Given the description of an element on the screen output the (x, y) to click on. 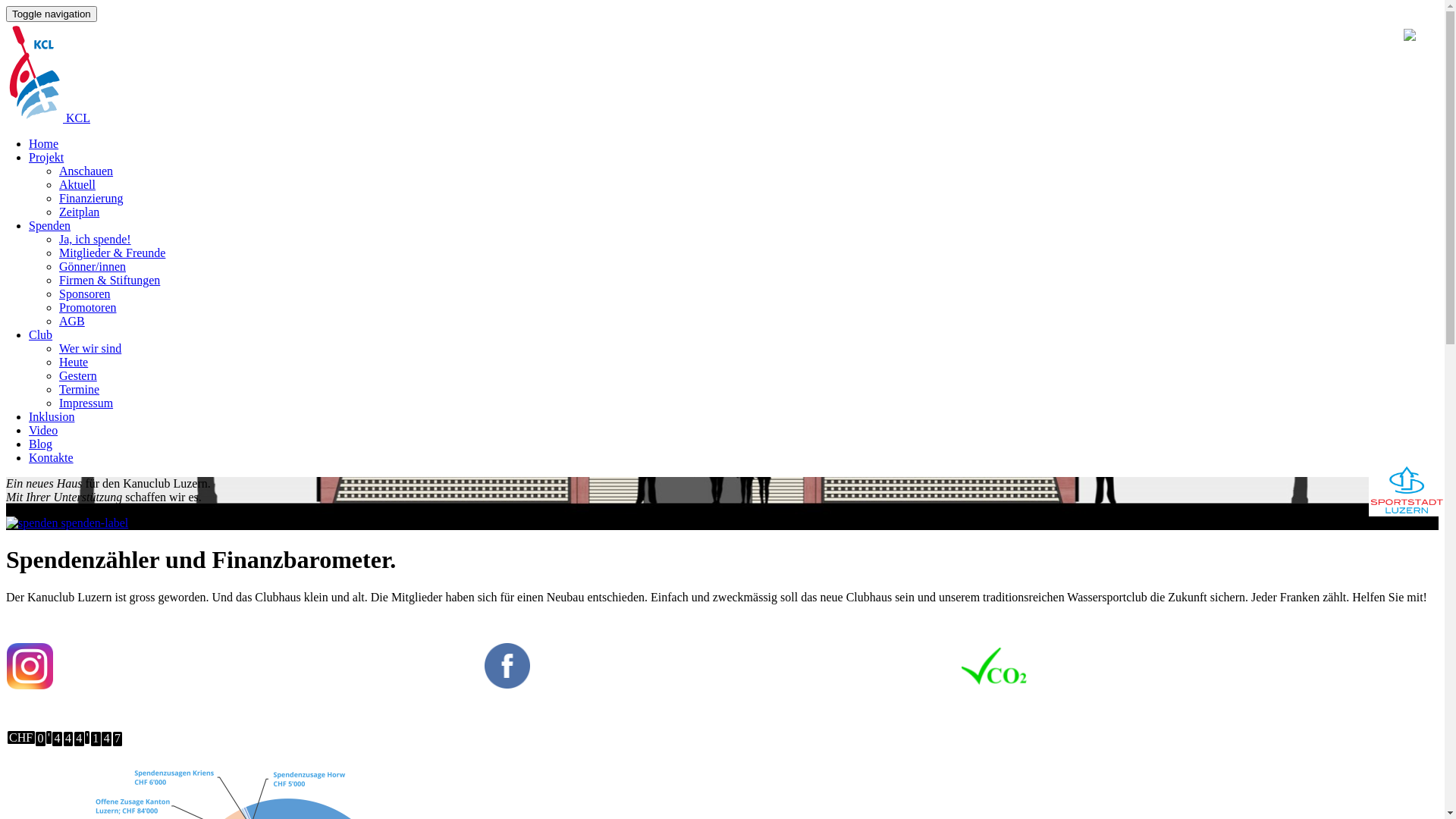
Firmen & Stiftungen Element type: text (109, 279)
spenden-label Element type: text (67, 522)
Ja, ich spende! Element type: text (95, 238)
Gestern Element type: text (78, 375)
Wer wir sind Element type: text (90, 348)
AGB Element type: text (71, 320)
Anschauen Element type: text (85, 170)
Impressum Element type: text (85, 402)
Projekt Element type: text (45, 156)
Termine Element type: text (79, 388)
Toggle navigation Element type: text (51, 13)
Finanzierung Element type: text (90, 197)
Blog Element type: text (40, 443)
Inklusion Element type: text (51, 416)
Home Element type: text (43, 143)
Club Element type: text (40, 334)
Video Element type: text (42, 429)
Mitglieder & Freunde Element type: text (112, 252)
Spenden Element type: text (49, 225)
KCL Element type: text (48, 117)
Sponsoren Element type: text (84, 293)
Promotoren Element type: text (87, 307)
Zeitplan Element type: text (79, 211)
Heute Element type: text (73, 361)
Kontakte Element type: text (50, 457)
Aktuell Element type: text (77, 184)
